Given the description of an element on the screen output the (x, y) to click on. 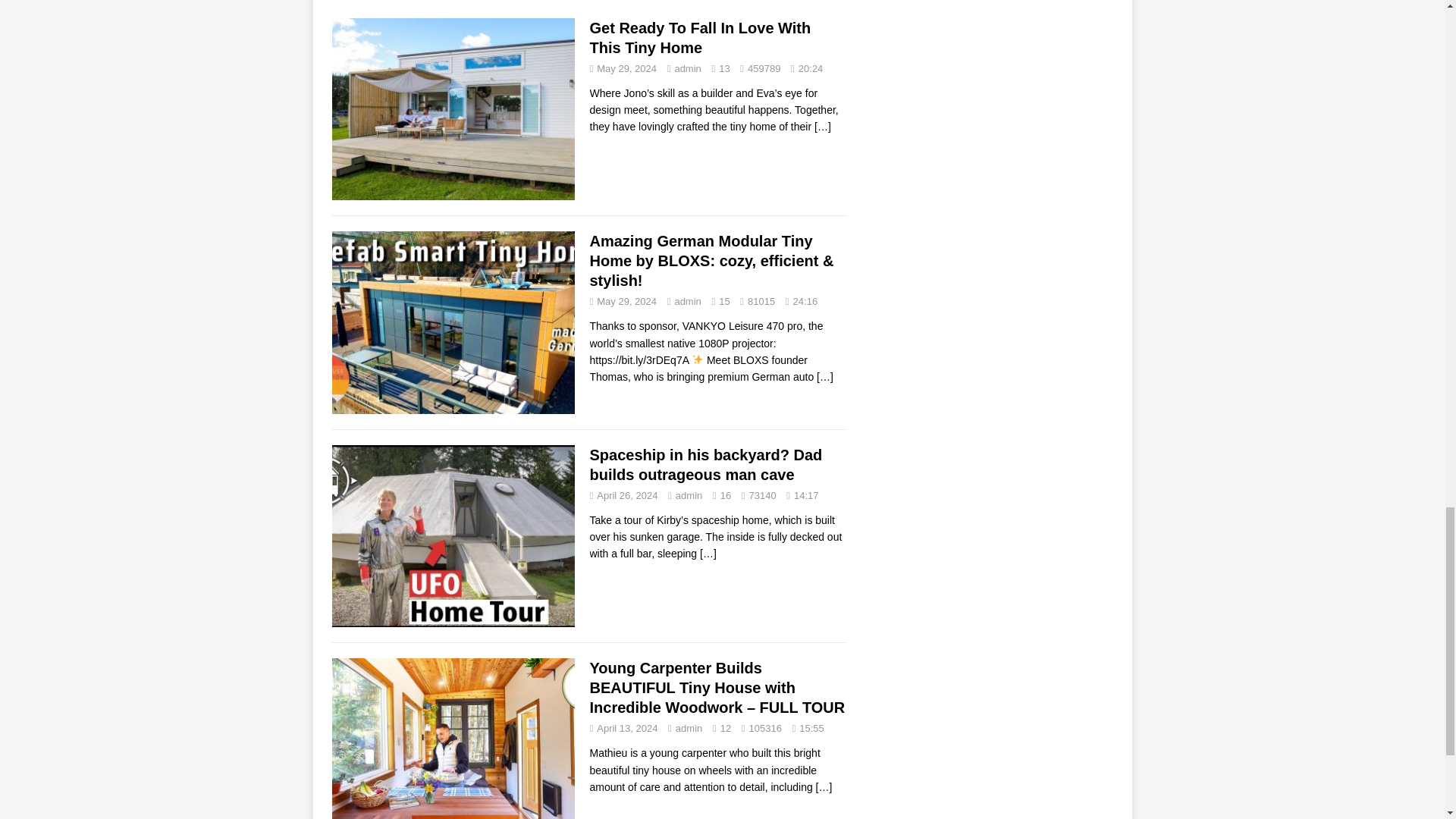
Get Ready To Fall In Love With This Tiny Home (822, 126)
admin (687, 301)
admin (687, 68)
Get Ready To Fall In Love With This Tiny Home (699, 37)
Spaceship in his backyard? Dad builds outrageous man cave (708, 553)
13 (724, 68)
